Given the description of an element on the screen output the (x, y) to click on. 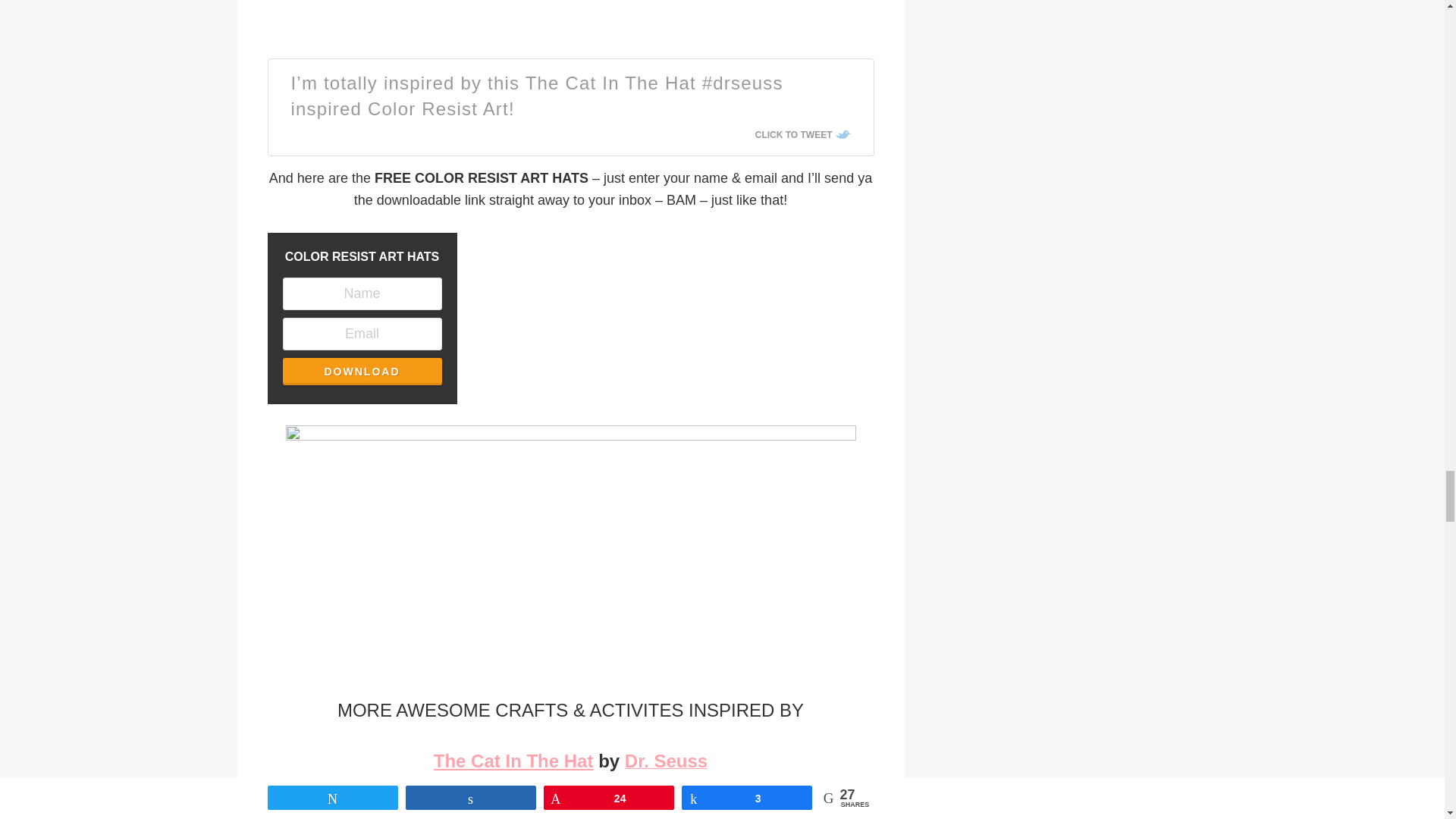
Download (361, 370)
Download (361, 370)
The Cat In The Hat (513, 761)
Name (361, 293)
Email (361, 333)
CLICK TO TWEET (802, 134)
